Given the description of an element on the screen output the (x, y) to click on. 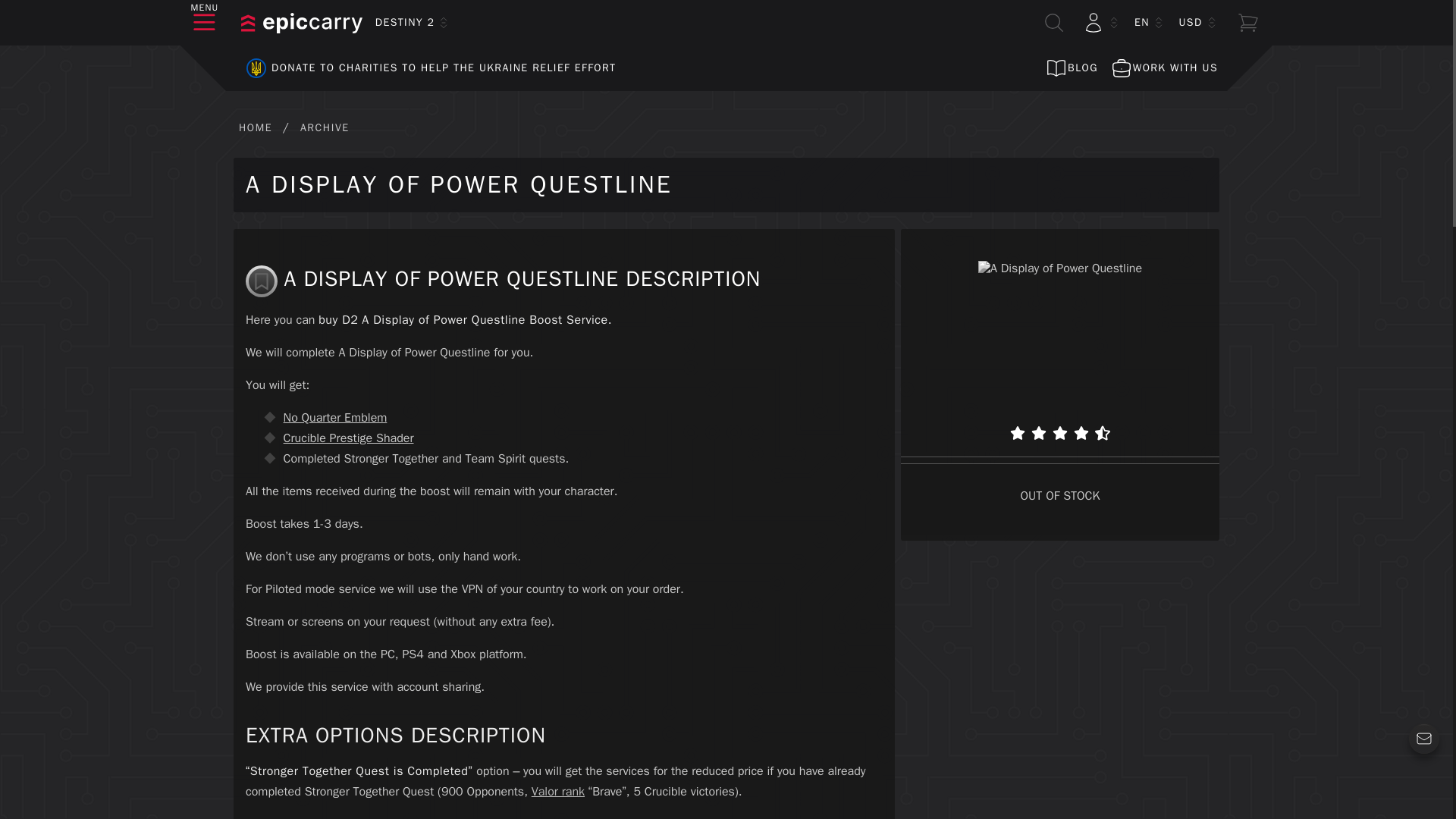
Valor rank (558, 791)
ARCHIVE (325, 127)
No Quarter Emblem (335, 417)
2 Stars (1038, 432)
4 Stars (1081, 432)
BLOG (1071, 67)
HOME (255, 127)
Crucible Prestige Shader (348, 437)
DONATE TO CHARITIES TO HELP THE UKRAINE RELIEF EFFORT (424, 67)
1 Star (1017, 432)
MENU (204, 22)
5 Stars (1101, 432)
WORK WITH US (1163, 67)
3 Stars (1059, 432)
